Given the description of an element on the screen output the (x, y) to click on. 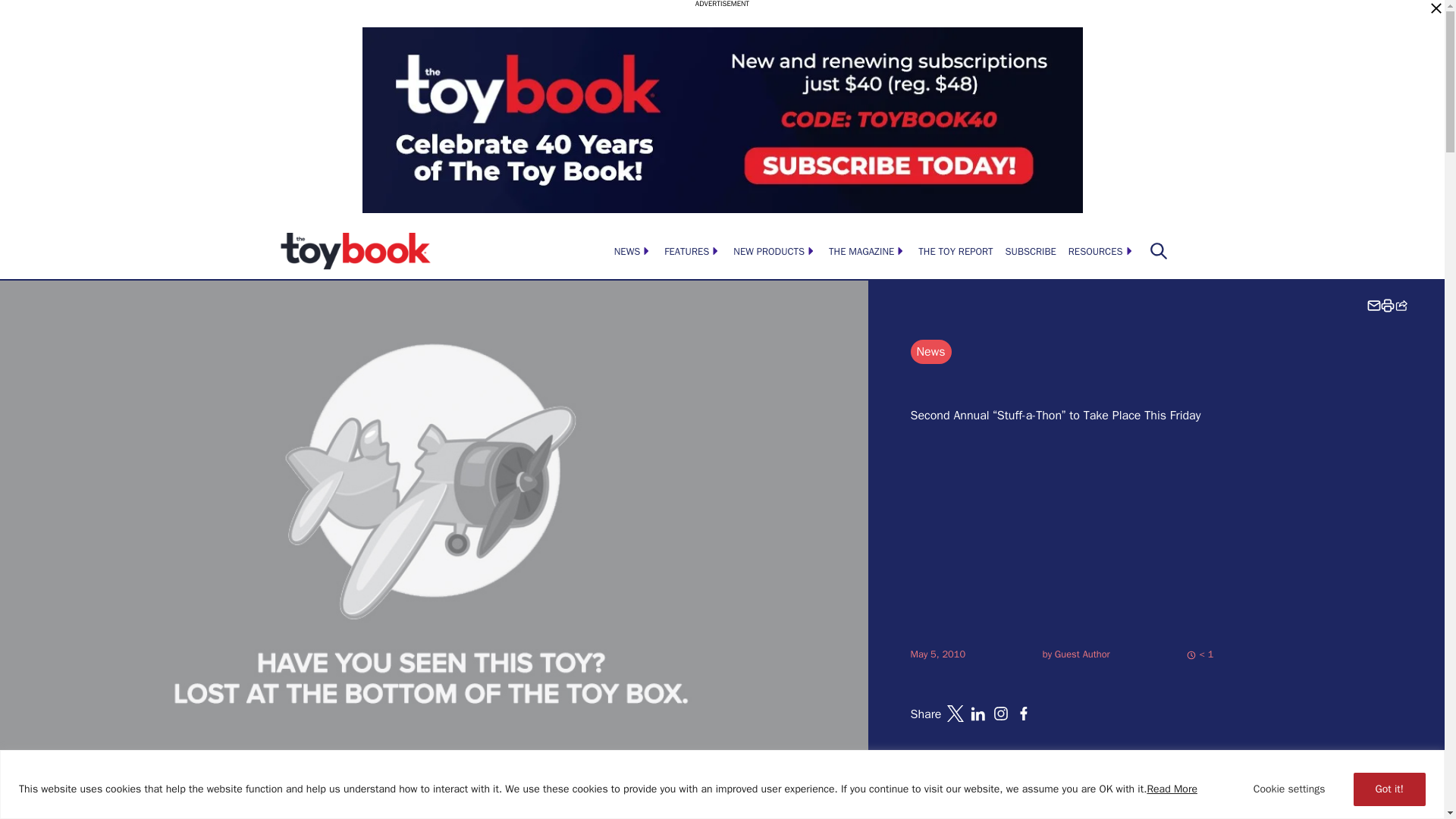
Go to:  (1081, 654)
Got it! (1389, 788)
Open linkedin in a new window (978, 713)
Cookie settings (1289, 788)
Open facebook in a new window (1023, 713)
Go to News (930, 351)
Open instagram in a new window (1000, 713)
Open x in a new window (955, 713)
Read More (1171, 788)
